Given the description of an element on the screen output the (x, y) to click on. 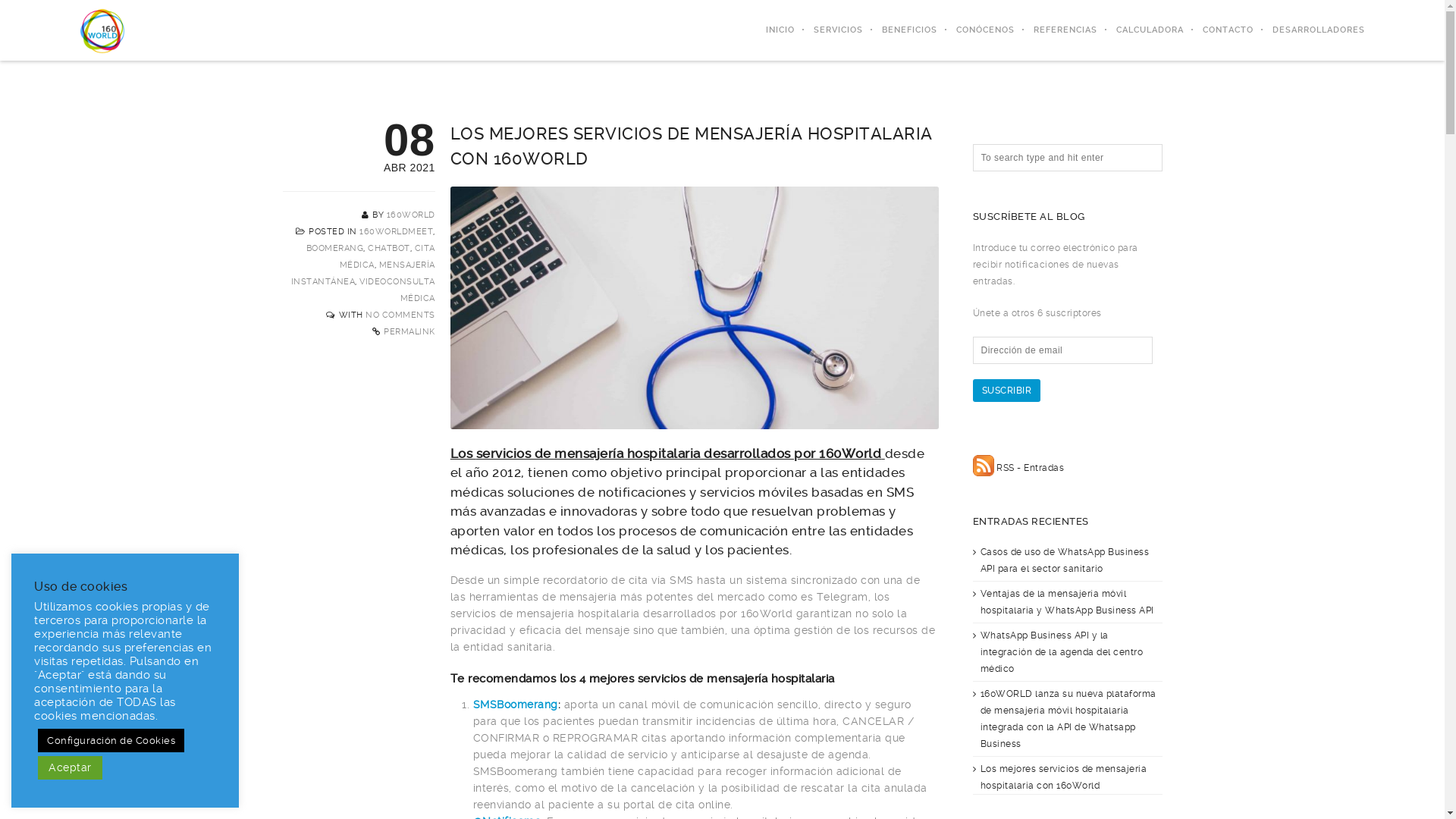
160World Element type: hover (102, 30)
RSS - Entradas Element type: text (1029, 467)
BOOMERANG Element type: text (335, 248)
Search Element type: text (26, 10)
INICIO Element type: text (770, 30)
BENEFICIOS Element type: text (899, 30)
Suscribirse a Entradas Element type: hover (982, 467)
Aceptar Element type: text (69, 767)
SMSBoomerang Element type: text (515, 704)
CHATBOT Element type: text (388, 248)
160WORLDMEET Element type: text (396, 231)
NO COMMENTS Element type: text (400, 315)
160WORLD Element type: text (410, 214)
Search for: Element type: hover (1066, 157)
CALCULADORA Element type: text (1140, 30)
Search Element type: text (28, 11)
Suscribir Element type: text (1006, 390)
DESARROLLADORES Element type: text (1309, 30)
PERMALINK Element type: text (409, 331)
SERVICIOS Element type: text (828, 30)
REFERENCIAS Element type: text (1055, 30)
CONTACTO Element type: text (1218, 30)
